Given the description of an element on the screen output the (x, y) to click on. 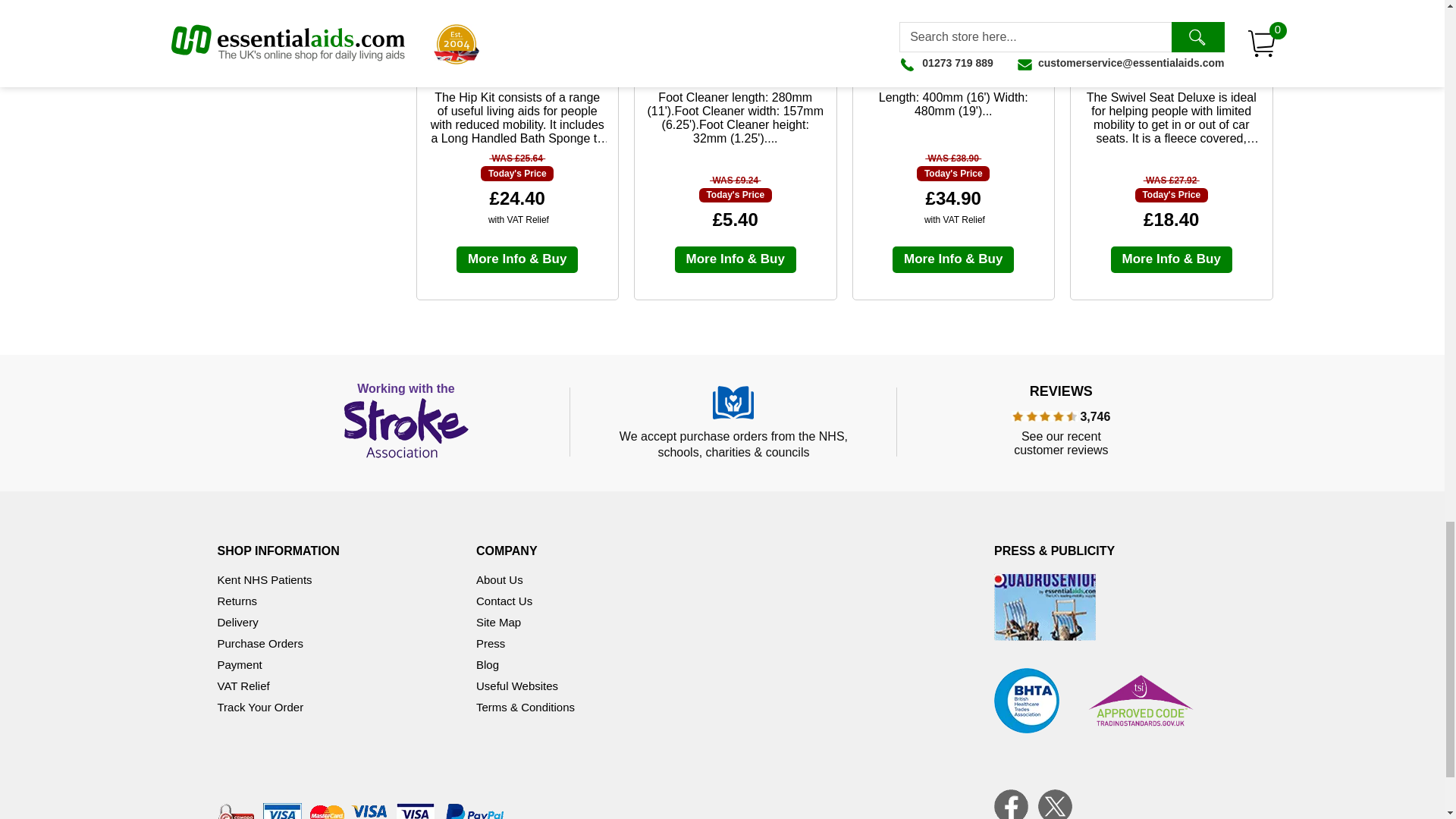
Delivery (236, 621)
Purchase Orders (259, 643)
Returns (236, 600)
Kent NHS Patients (263, 579)
Stroke Association (406, 422)
Payment (239, 664)
